Given the description of an element on the screen output the (x, y) to click on. 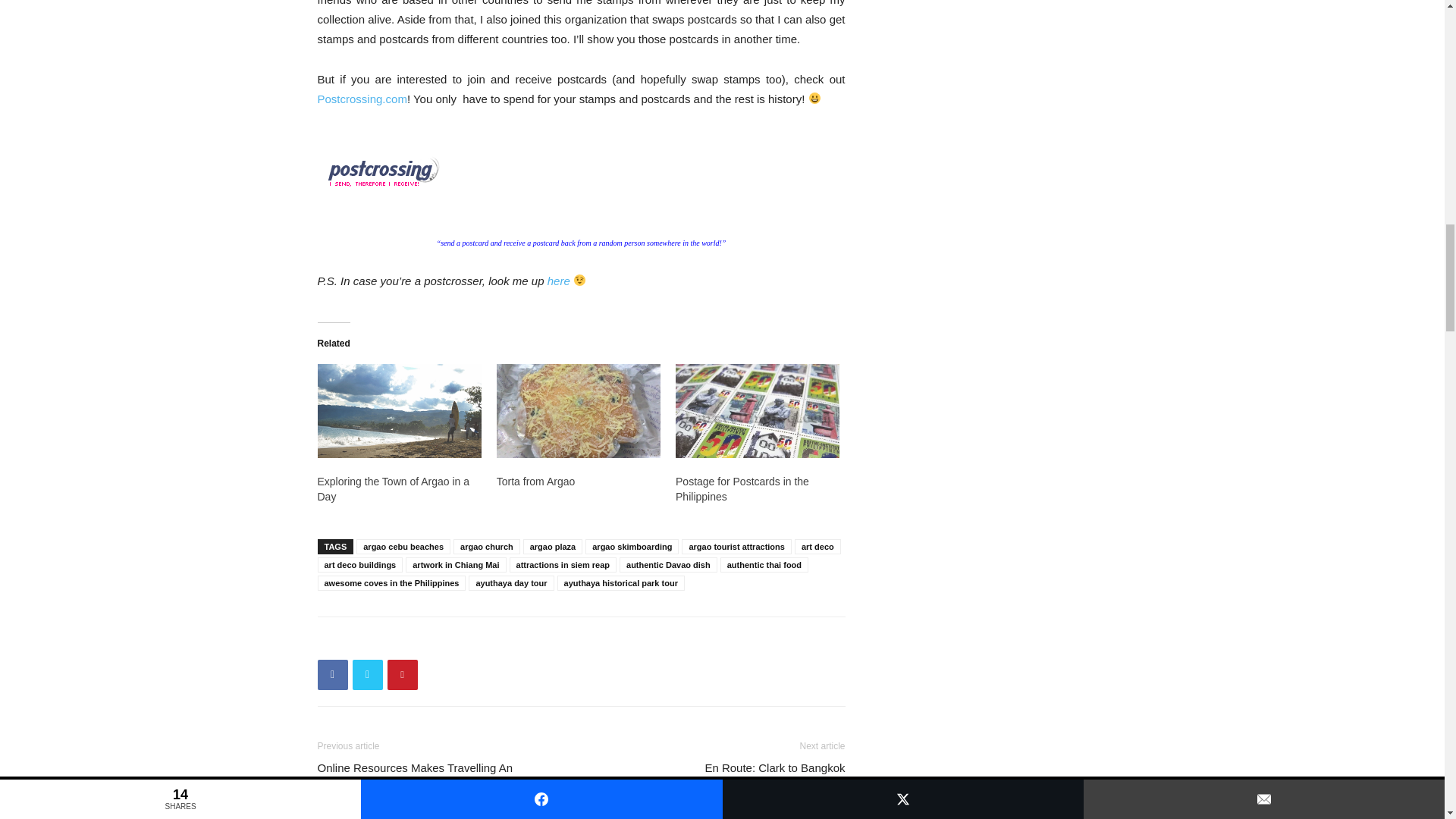
here (560, 280)
Postcrossing.com (361, 98)
